Given the description of an element on the screen output the (x, y) to click on. 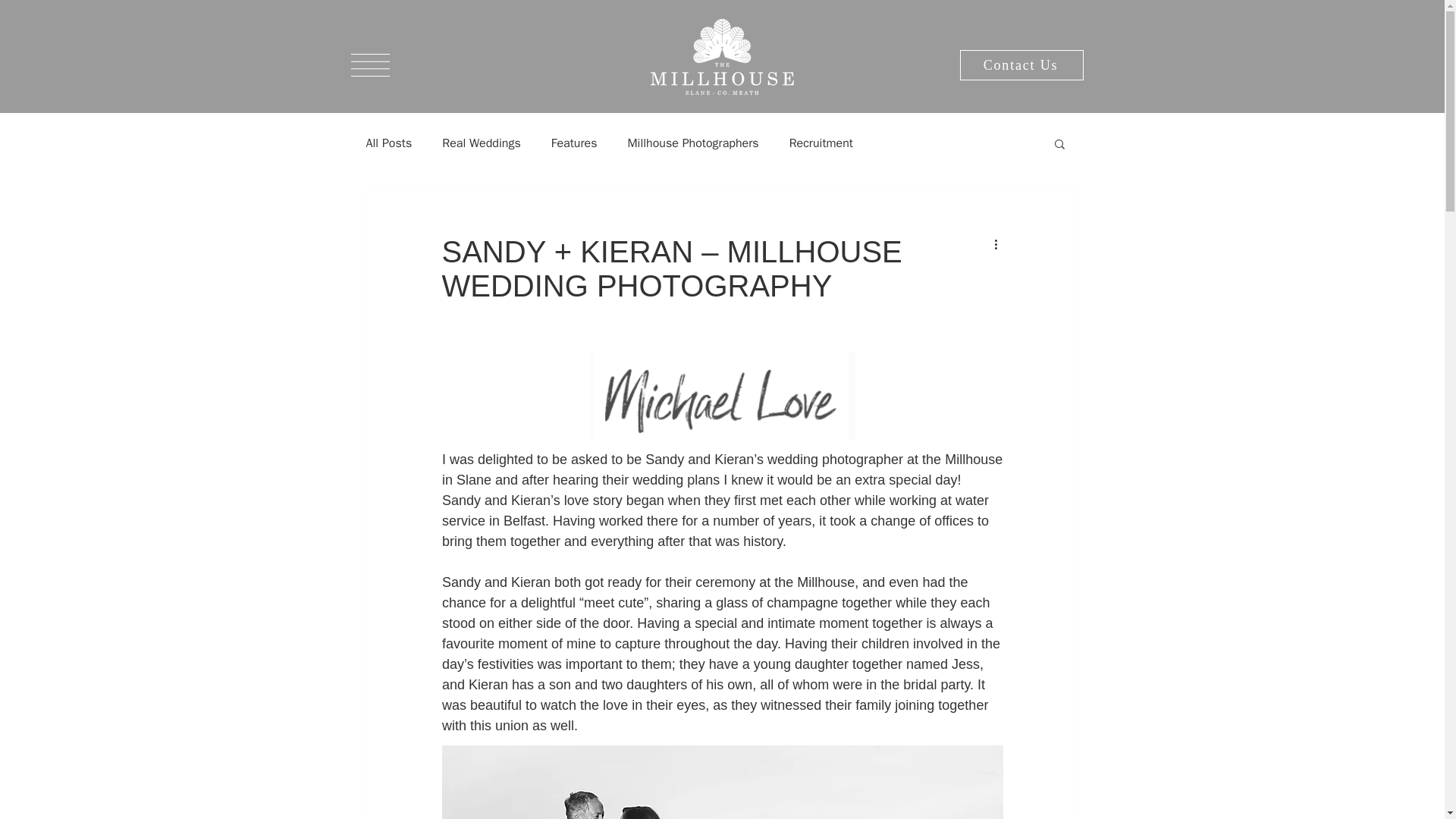
Features (573, 142)
All Posts (388, 142)
Real Weddings (481, 142)
Recruitment (821, 142)
Millhouse Photographers (692, 142)
Contact Us (1021, 64)
